Given the description of an element on the screen output the (x, y) to click on. 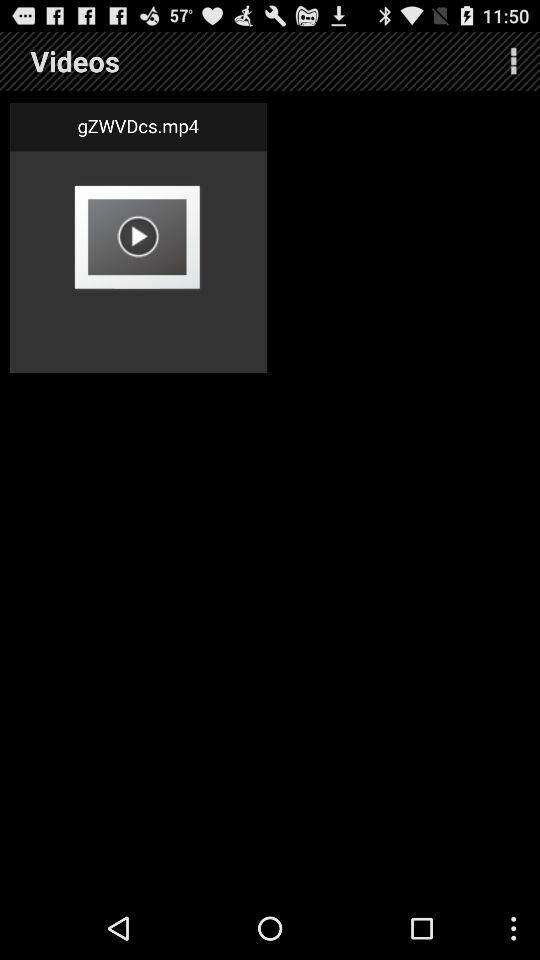
choose the icon next to videos (513, 60)
